Given the description of an element on the screen output the (x, y) to click on. 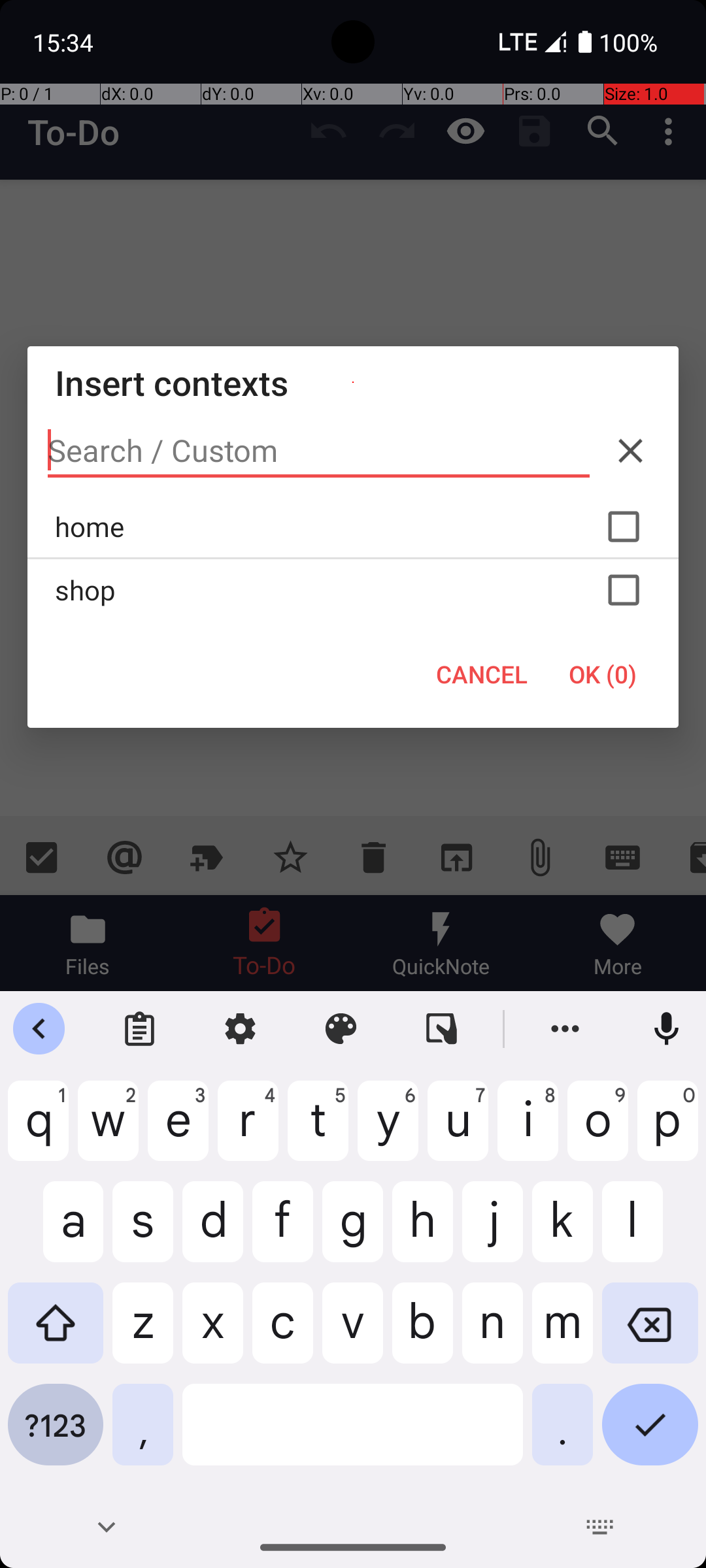
Insert contexts Element type: android.widget.TextView (352, 382)
Search / Custom Element type: android.widget.EditText (318, 450)
home Element type: android.widget.CheckedTextView (352, 526)
shop Element type: android.widget.CheckedTextView (352, 589)
